Given the description of an element on the screen output the (x, y) to click on. 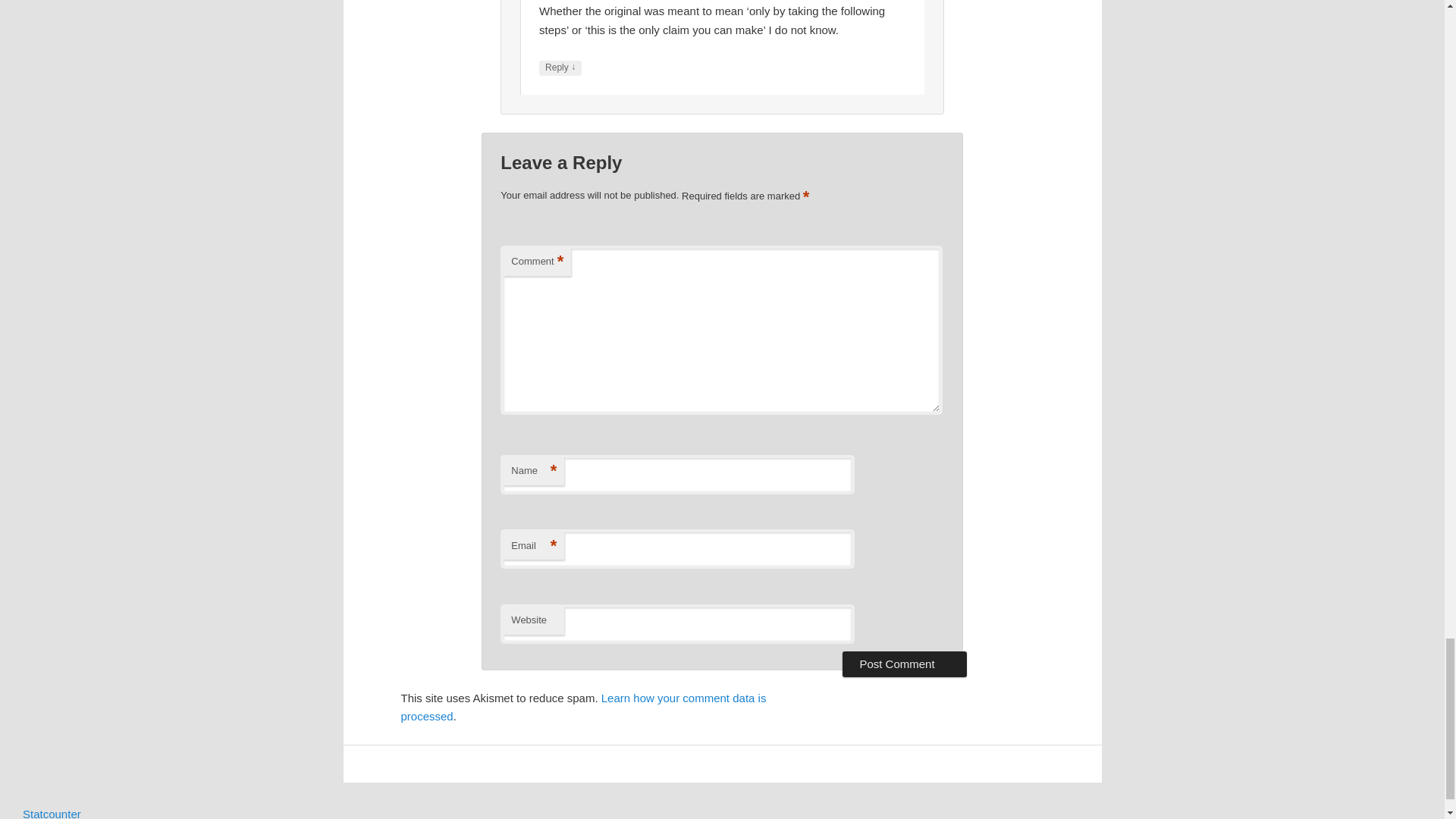
Post Comment (904, 664)
